Given the description of an element on the screen output the (x, y) to click on. 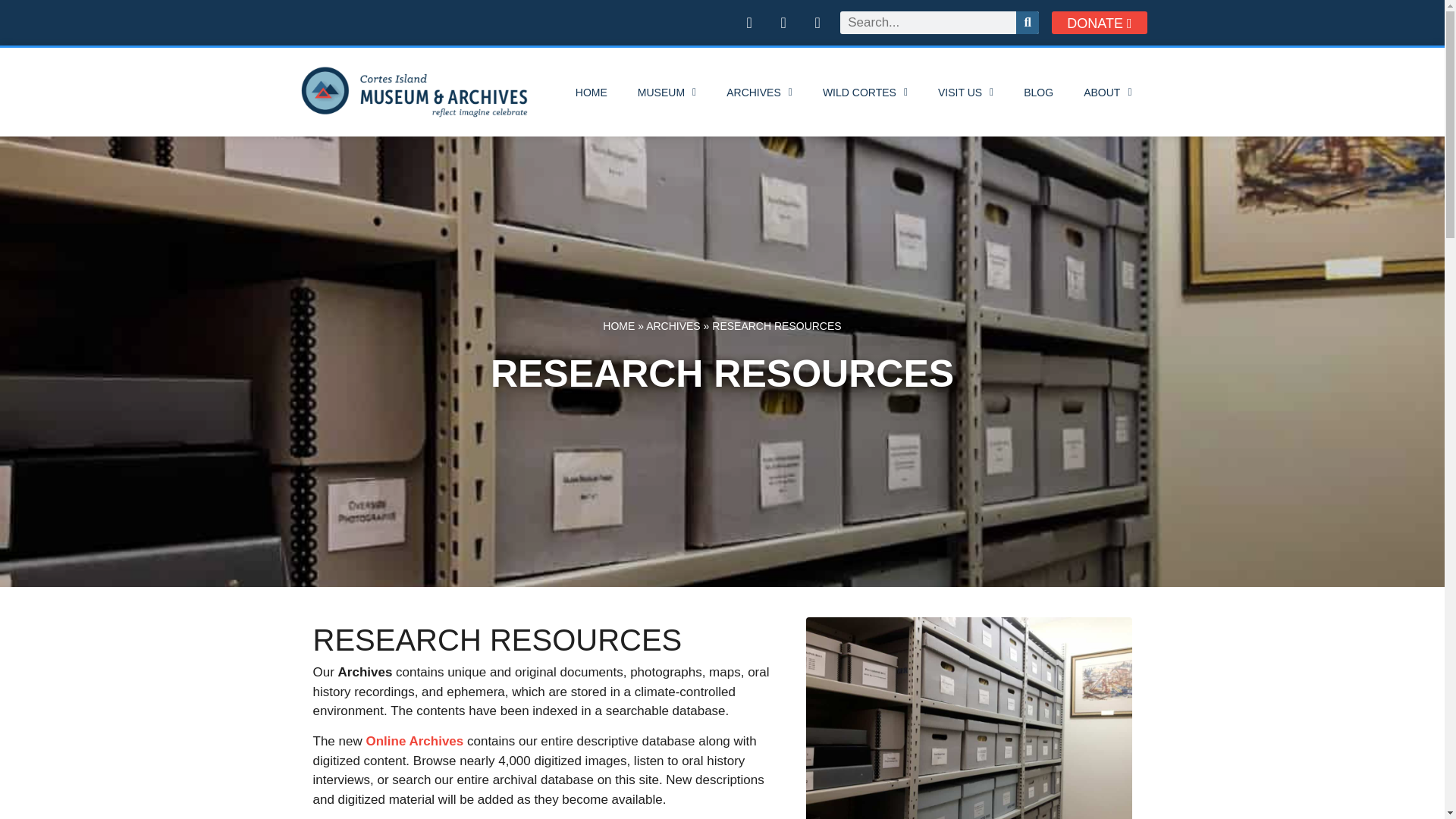
VISIT US (966, 92)
DONATE (1099, 22)
WILD CORTES (865, 92)
MUSEUM (667, 92)
ABOUT (1107, 92)
BLOG (1038, 92)
HOME (591, 92)
ARCHIVES (759, 92)
